Given the description of an element on the screen output the (x, y) to click on. 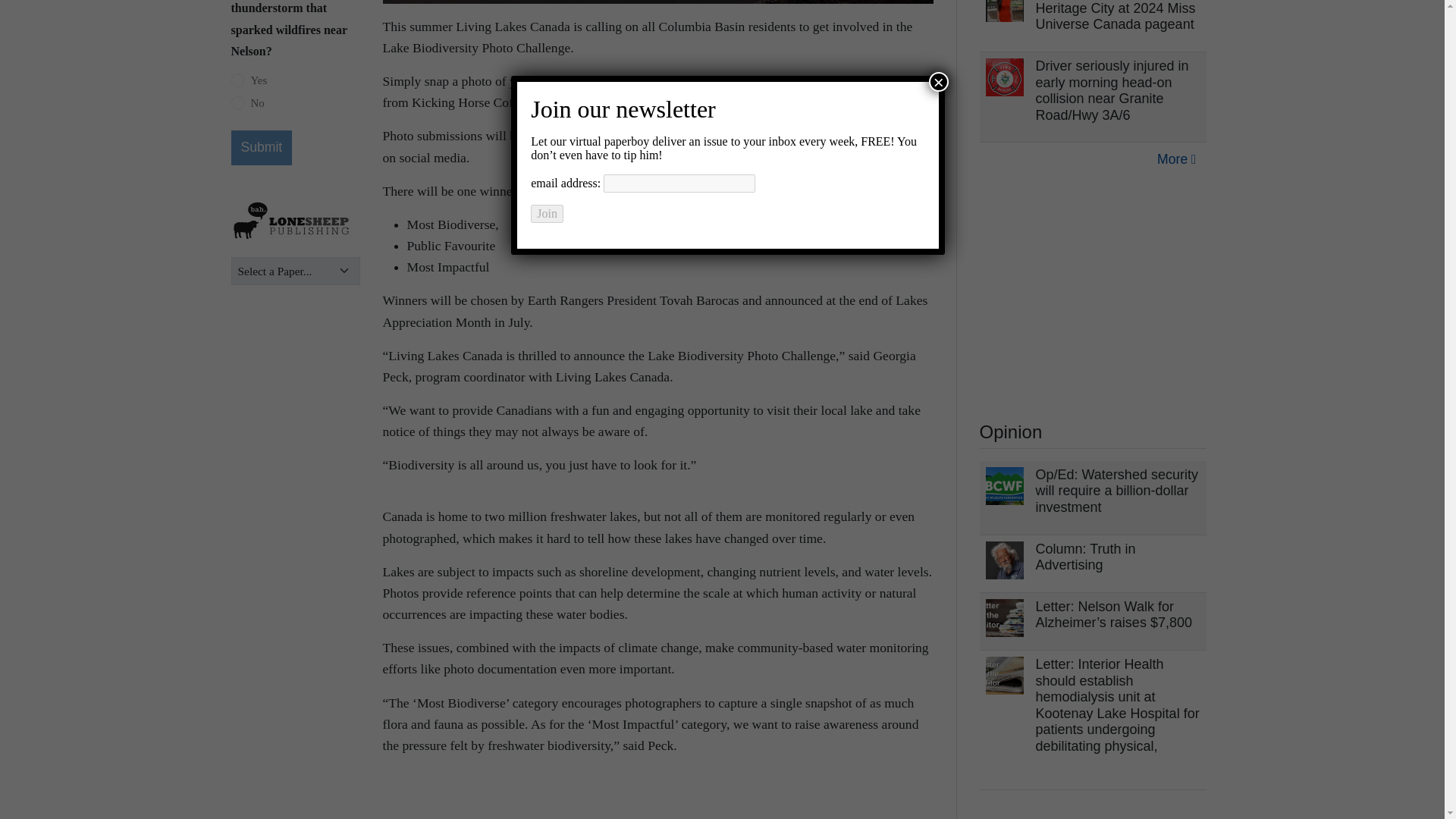
Submit (261, 147)
